Given the description of an element on the screen output the (x, y) to click on. 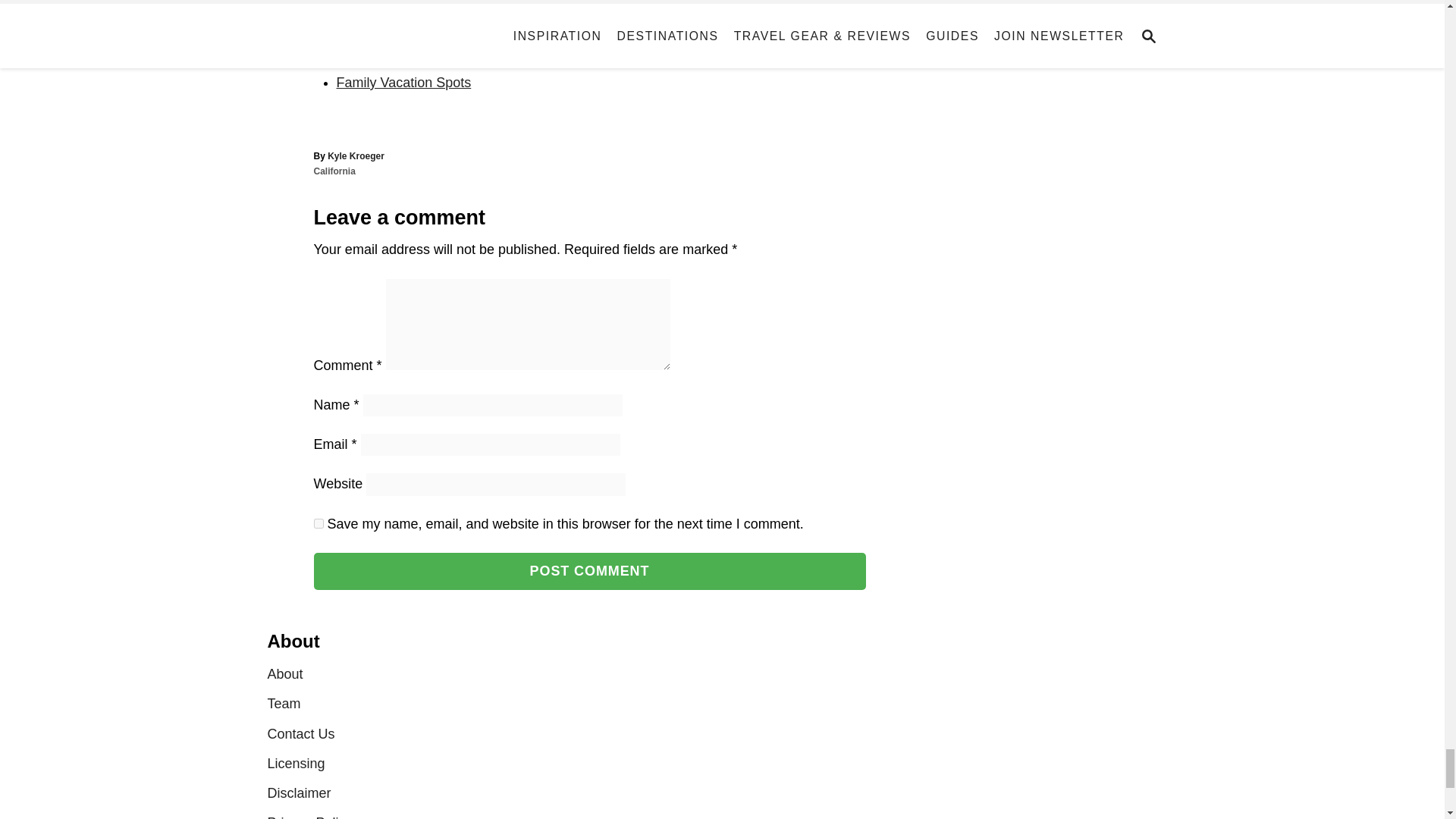
Post Comment (590, 570)
yes (318, 523)
